Given the description of an element on the screen output the (x, y) to click on. 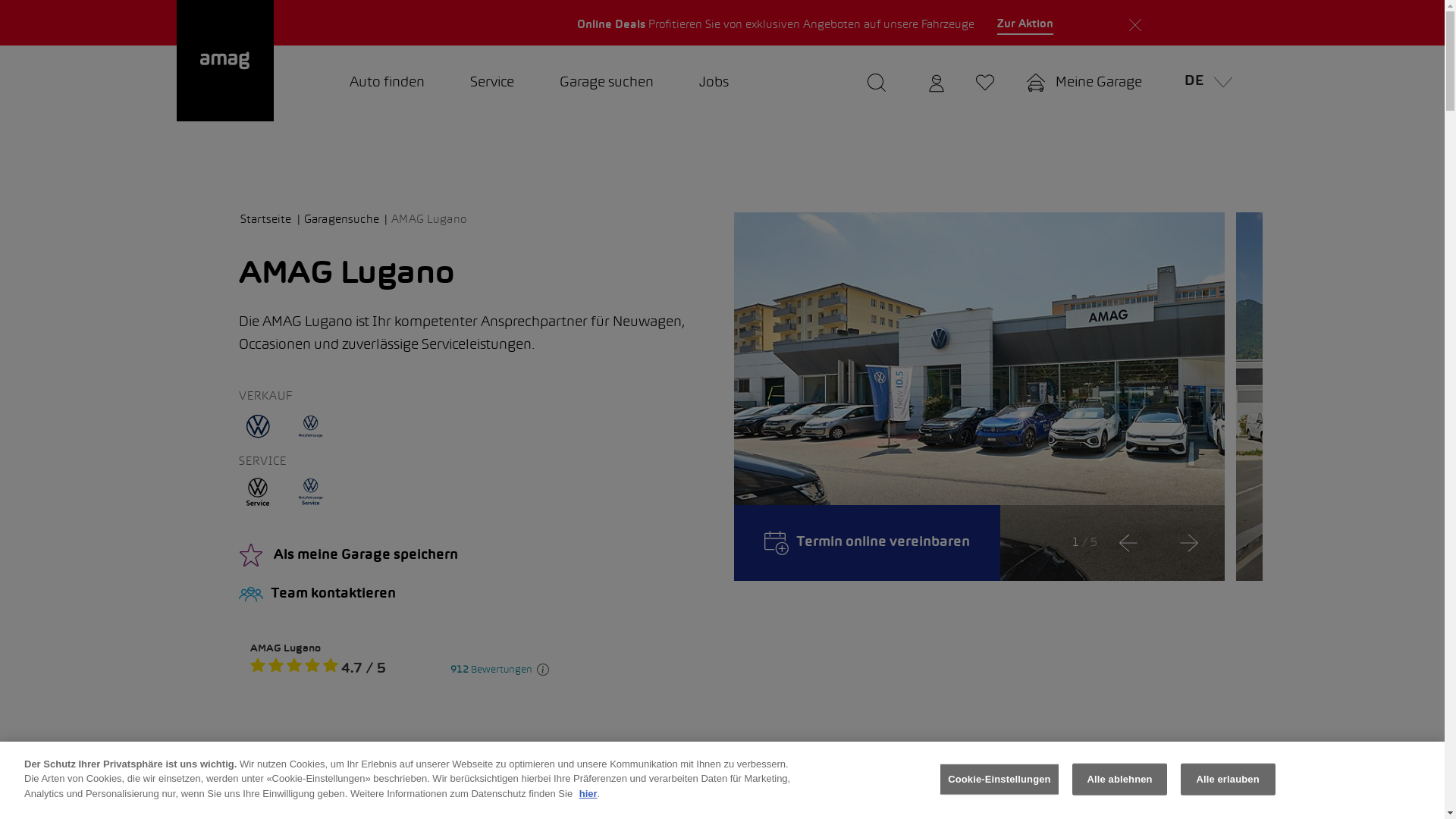
Jobs Element type: text (713, 83)
NR. 1 IN DER SCHWEIZ mit 85 Standorten Element type: text (1053, 22)
DE Element type: text (1203, 83)
Auto finden Element type: text (386, 83)
SCHNELL UND ONLINE Wir kaufen Ihr Auto Element type: text (398, 22)
Alle erlauben Element type: text (1227, 779)
Garagensuche Element type: text (345, 219)
hier Element type: text (588, 793)
Team kontaktieren Element type: text (474, 594)
Alle ablehnen Element type: text (1119, 779)
Zur Aktion Element type: text (1025, 24)
Cookie-Einstellungen Element type: text (999, 779)
Startseite Element type: text (270, 219)
Service Element type: text (491, 83)
Meine Garage Element type: text (1083, 83)
Garage suchen Element type: text (606, 83)
Termin online vereinbaren Element type: text (867, 542)
